Given the description of an element on the screen output the (x, y) to click on. 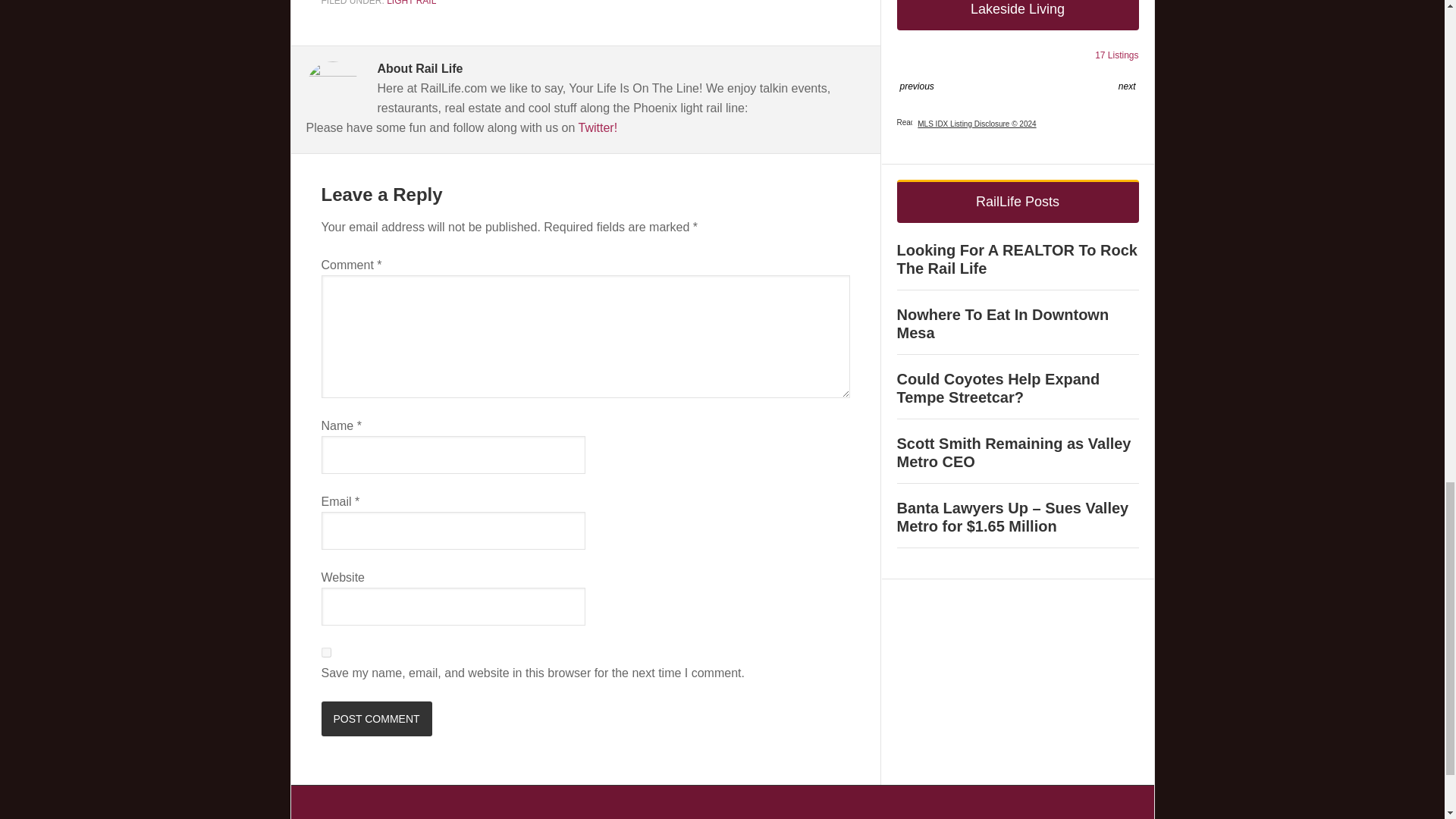
yes (326, 652)
Post Comment (376, 718)
Post Comment (376, 718)
LIGHT RAIL (411, 2)
Twitter! (597, 127)
